Given the description of an element on the screen output the (x, y) to click on. 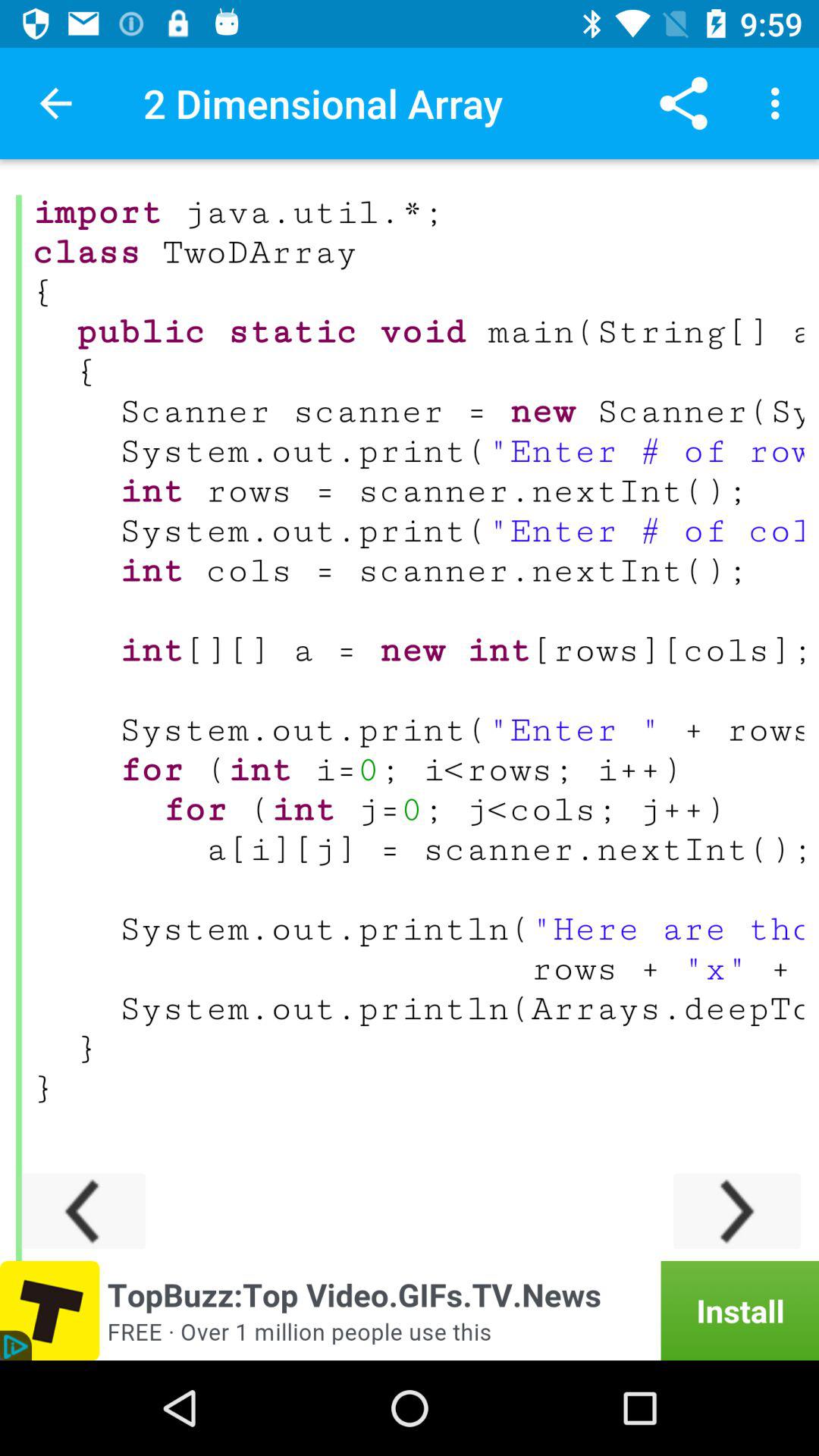
install (409, 1310)
